Given the description of an element on the screen output the (x, y) to click on. 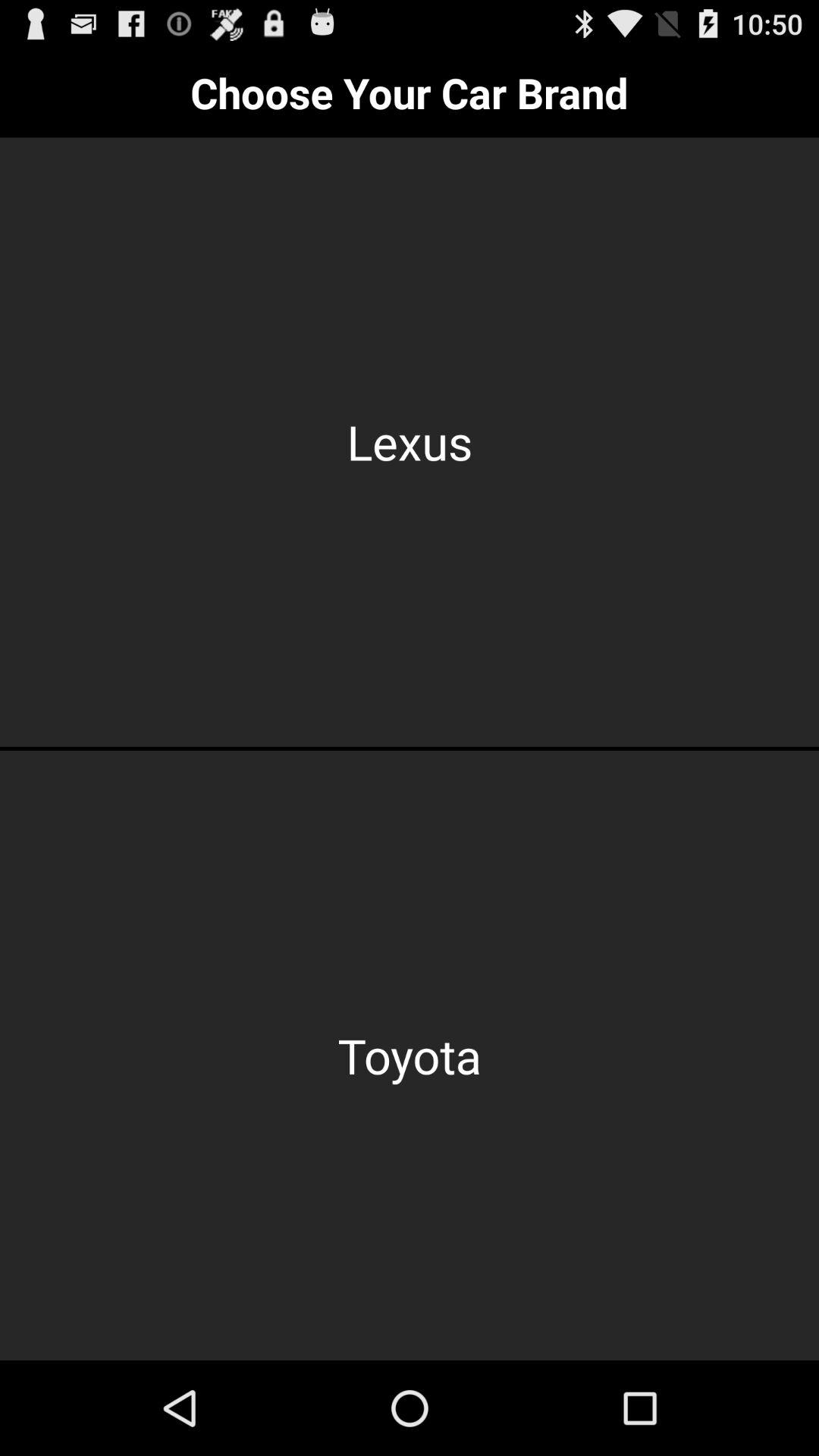
jump to lexus (409, 441)
